Given the description of an element on the screen output the (x, y) to click on. 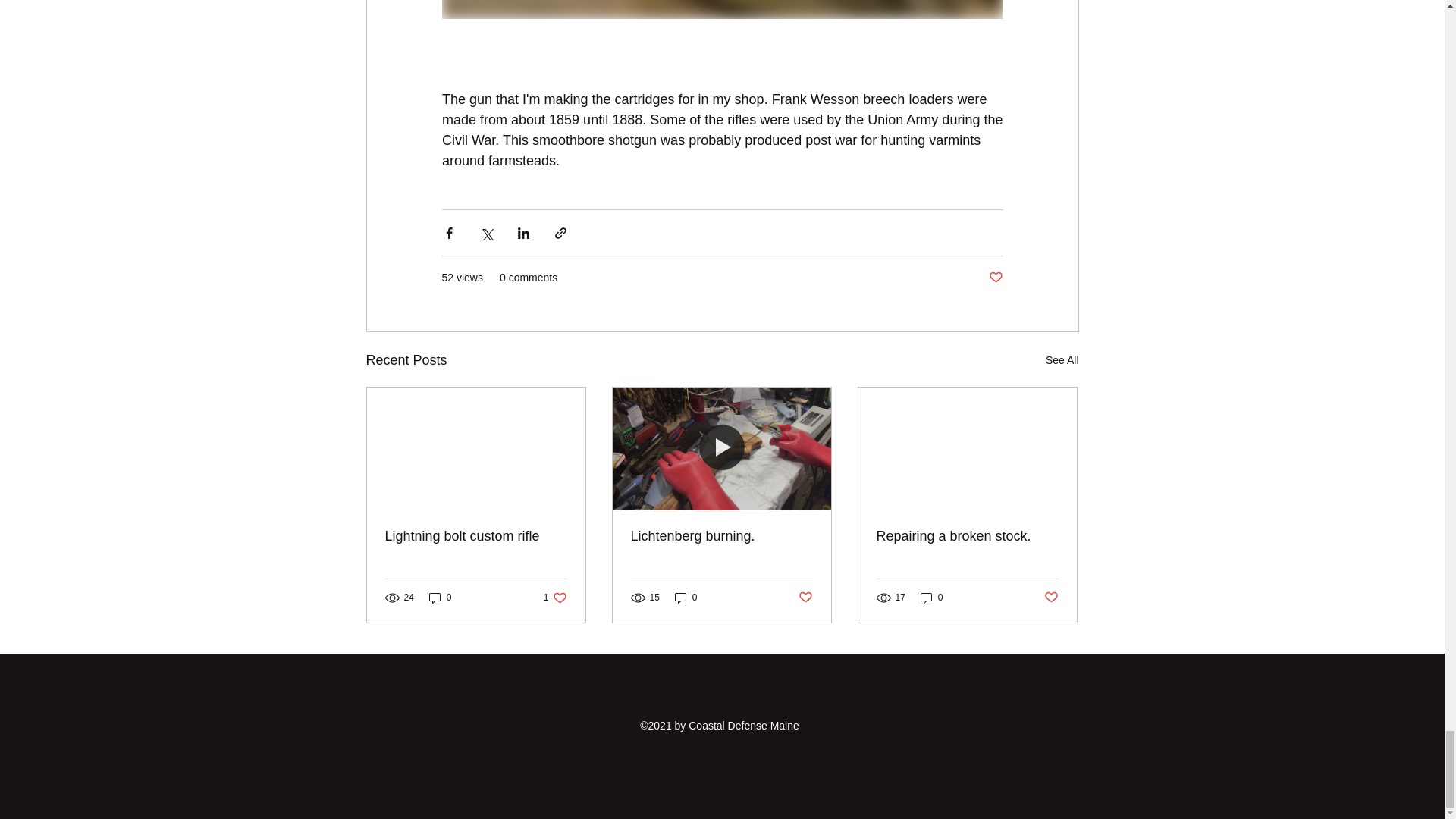
Lightning bolt custom rifle (476, 536)
0 (555, 597)
Repairing a broken stock. (440, 597)
0 (967, 536)
See All (931, 597)
Post not marked as liked (1061, 360)
Lichtenberg burning. (804, 597)
Post not marked as liked (721, 536)
Post not marked as liked (1050, 597)
0 (995, 277)
